Given the description of an element on the screen output the (x, y) to click on. 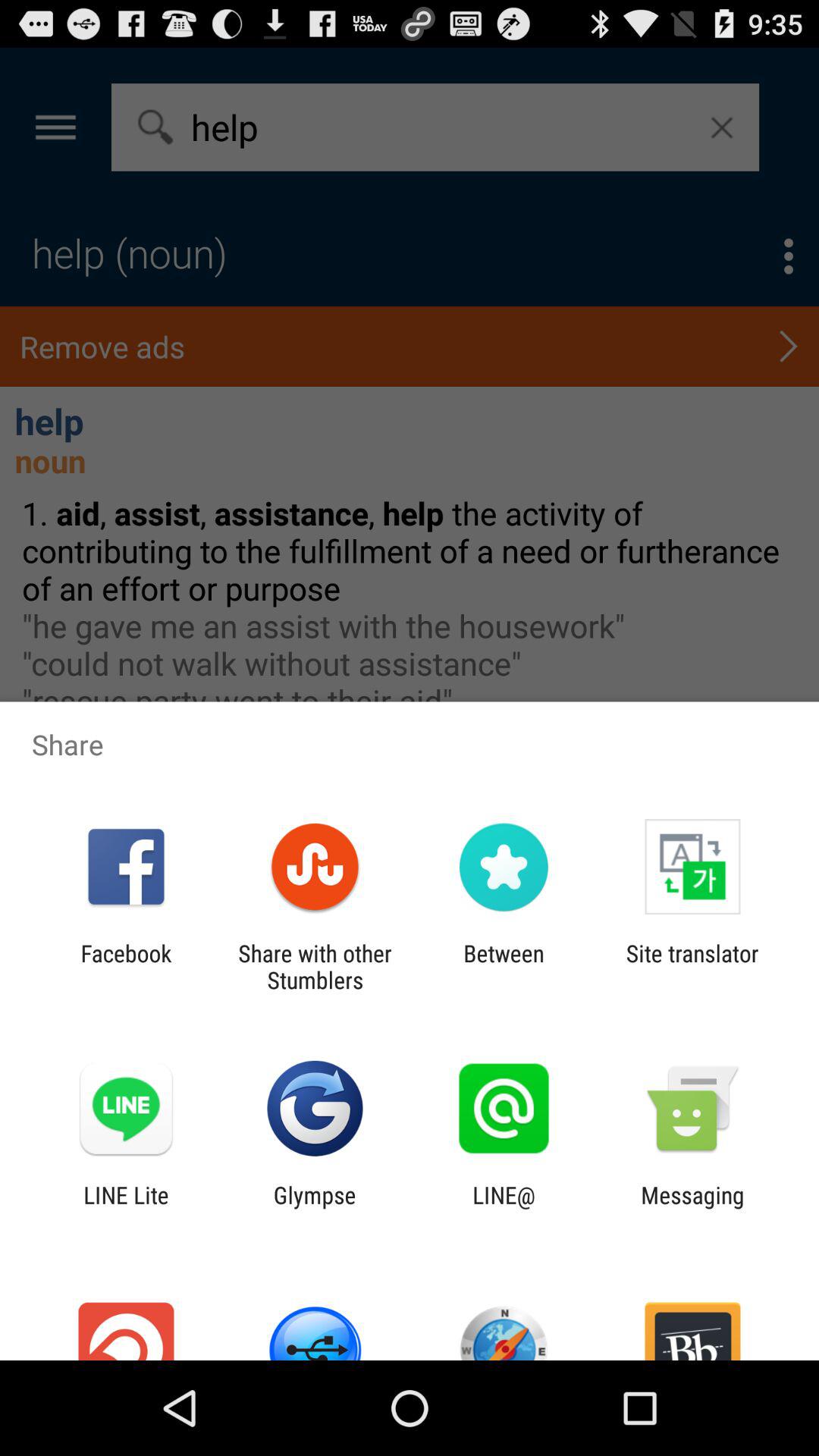
turn on the glympse icon (314, 1208)
